Given the description of an element on the screen output the (x, y) to click on. 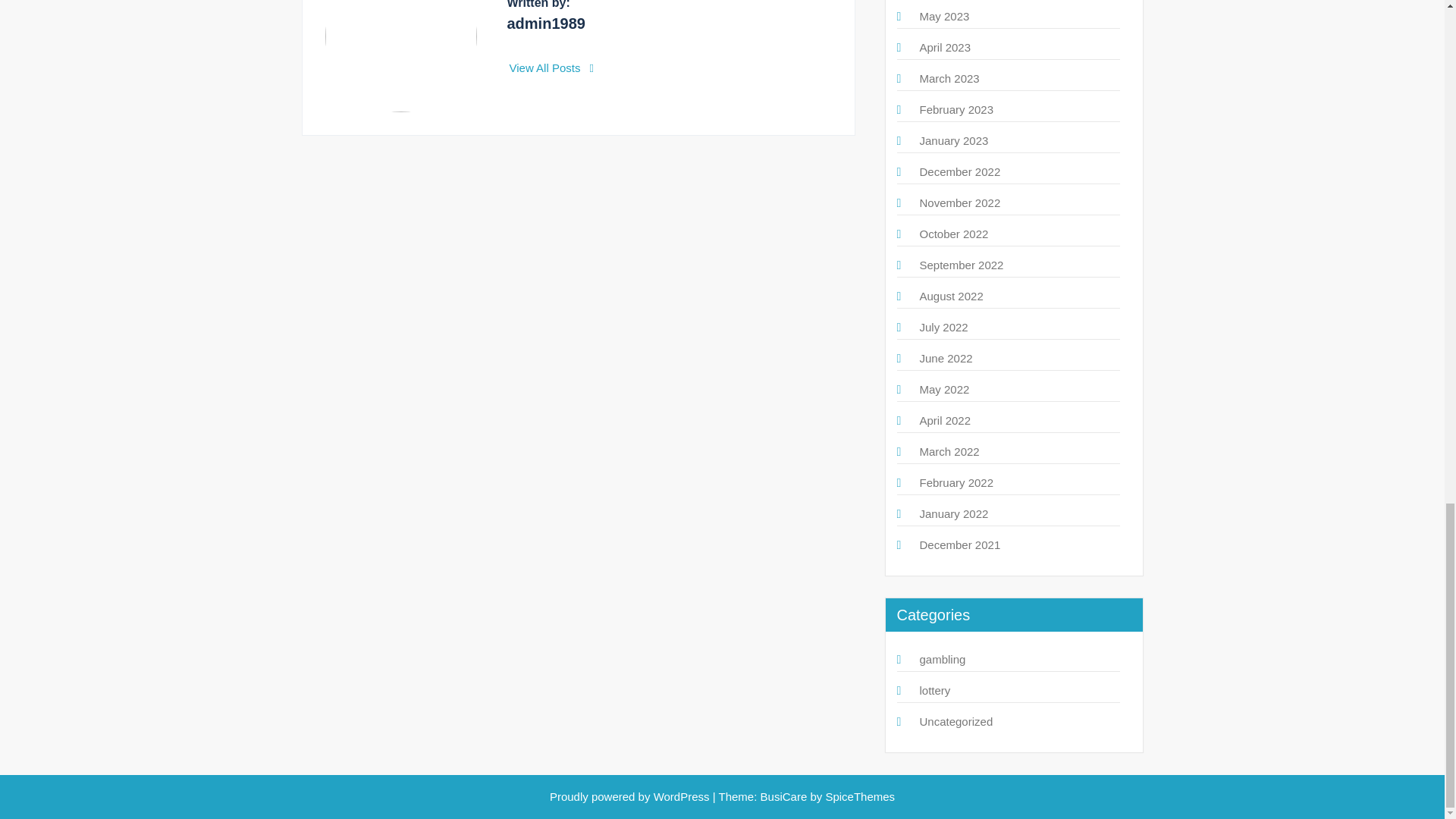
December 2022 (959, 171)
May 2023 (943, 15)
November 2022 (959, 202)
January 2023 (953, 140)
View All Posts (551, 67)
March 2023 (948, 78)
April 2023 (944, 47)
February 2023 (955, 109)
